Given the description of an element on the screen output the (x, y) to click on. 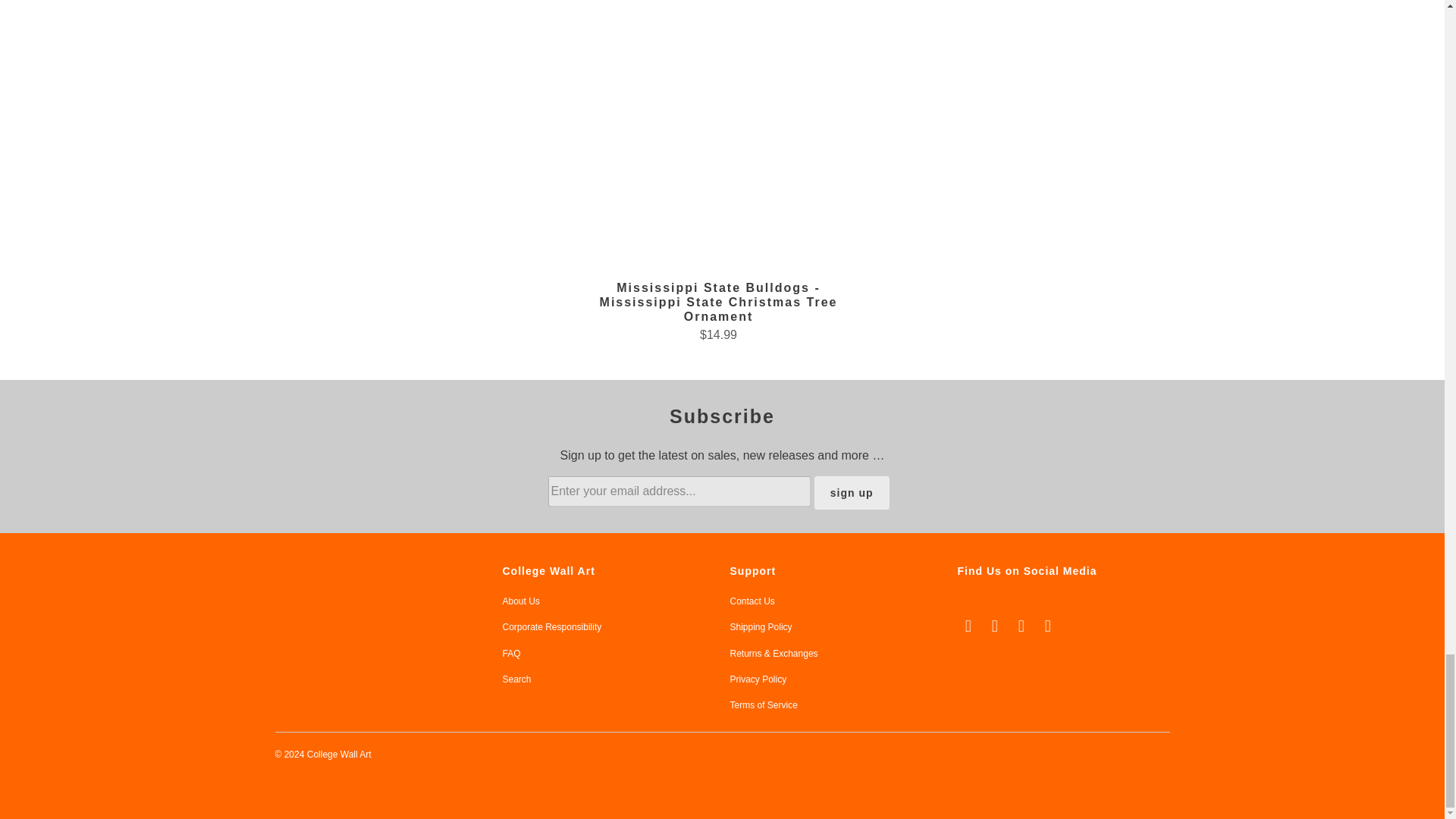
College Wall Art on Pinterest (1021, 626)
College Wall Art on Instagram (1047, 626)
Sign Up (851, 492)
College Wall Art on Twitter (967, 626)
College Wall Art on Facebook (995, 626)
